Given the description of an element on the screen output the (x, y) to click on. 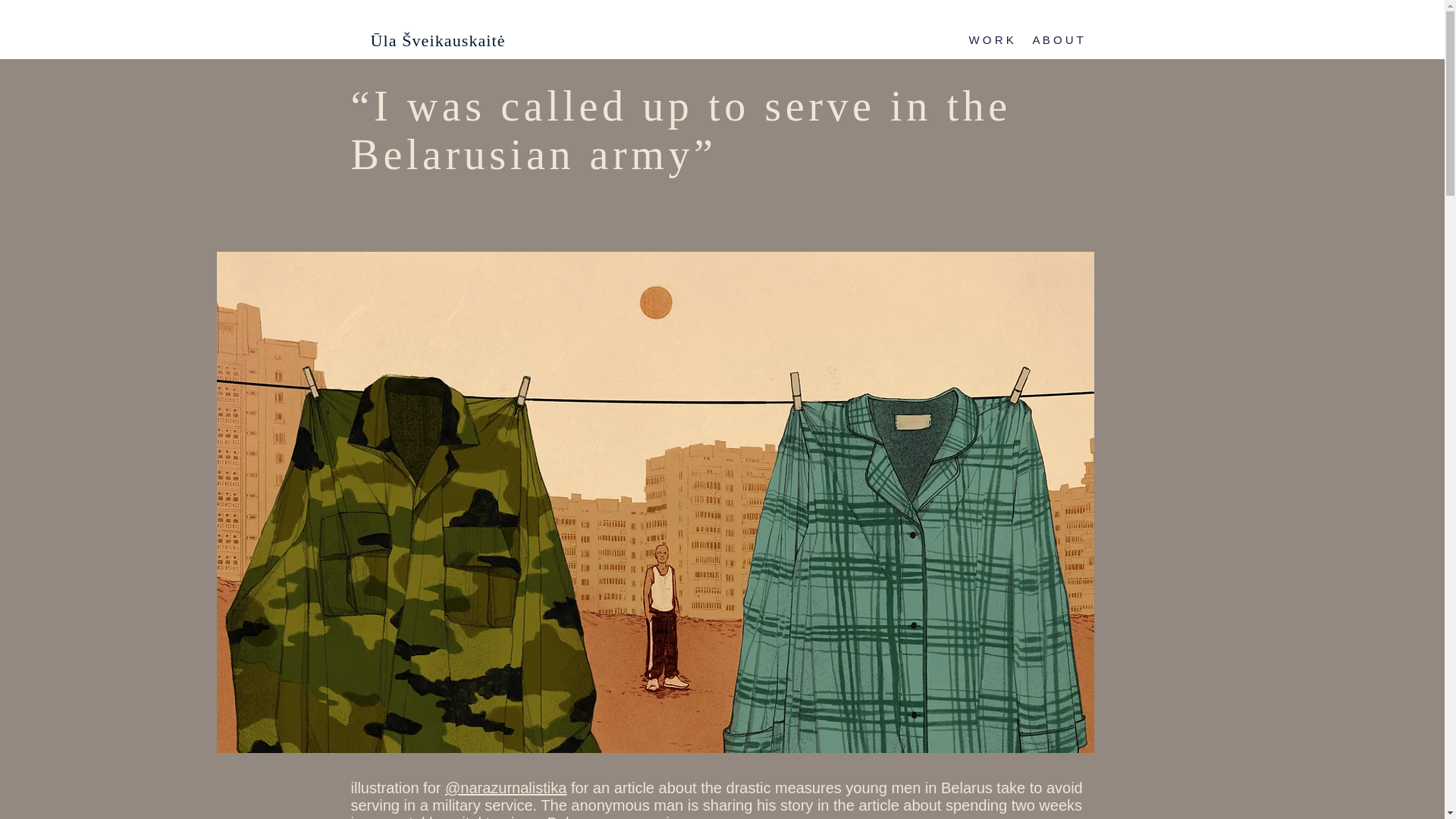
A B O U T (1056, 39)
W O R K (988, 39)
